Given the description of an element on the screen output the (x, y) to click on. 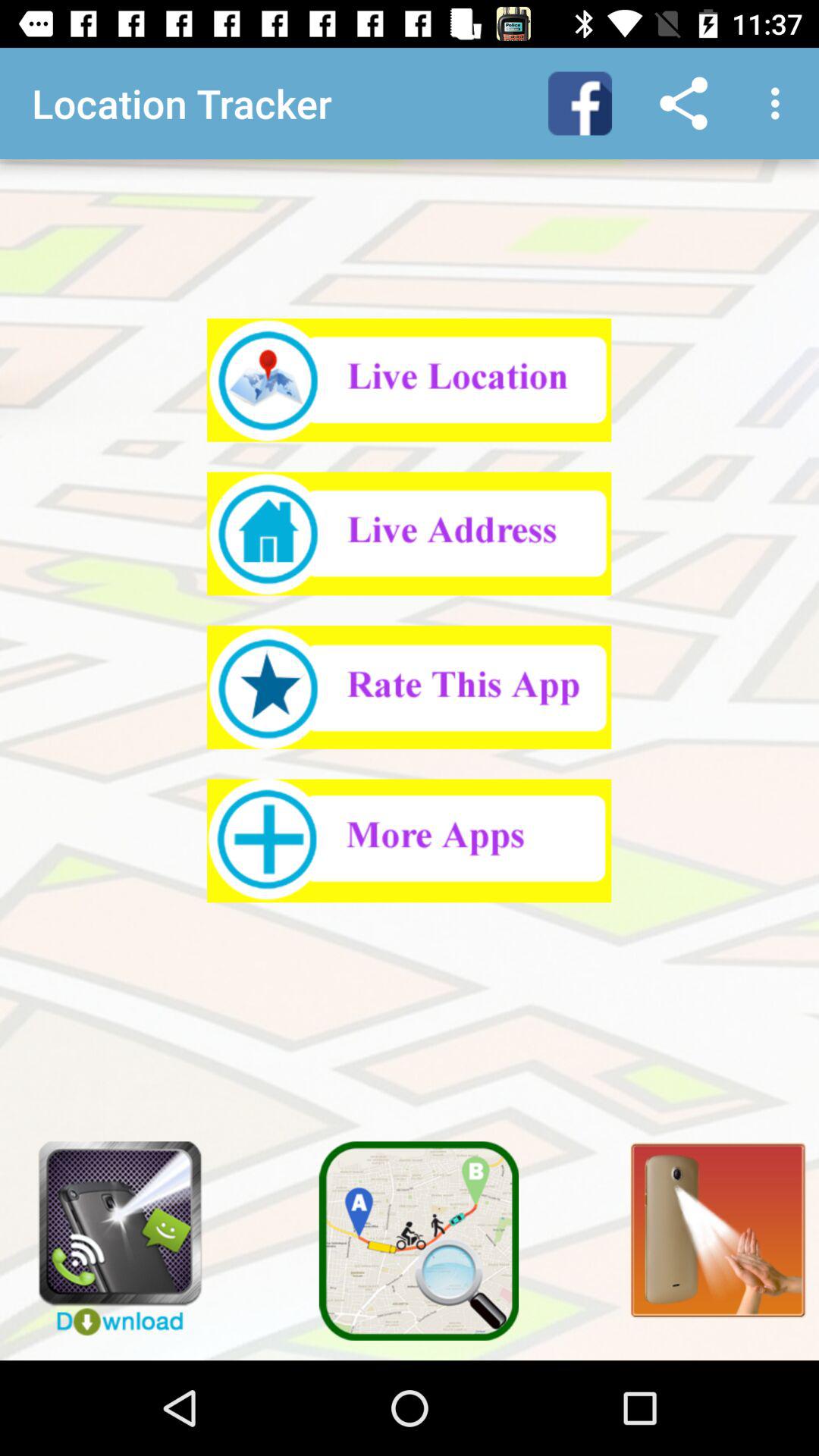
rate the application (409, 687)
